Given the description of an element on the screen output the (x, y) to click on. 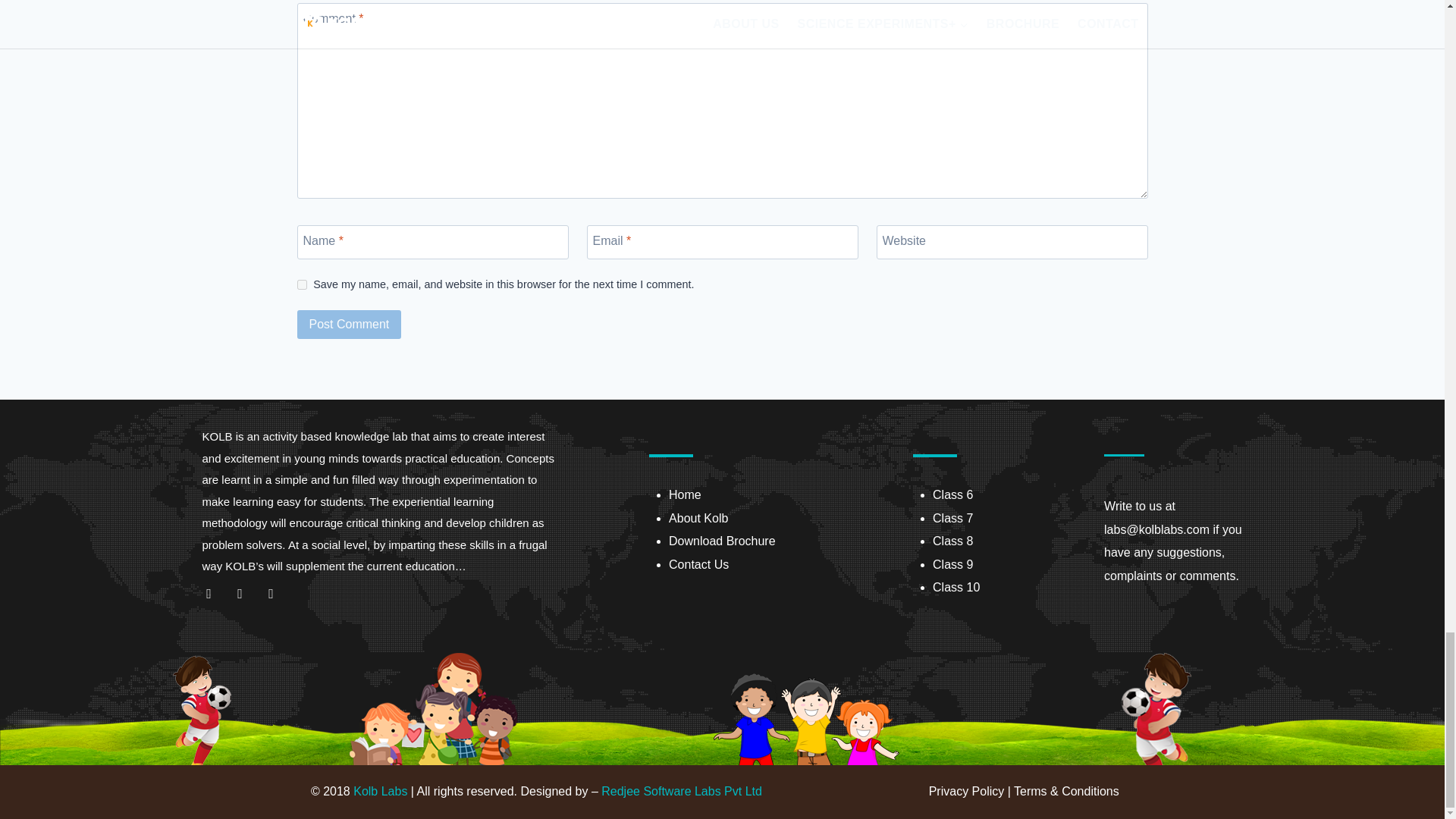
yes (302, 284)
Post Comment (349, 324)
